Given the description of an element on the screen output the (x, y) to click on. 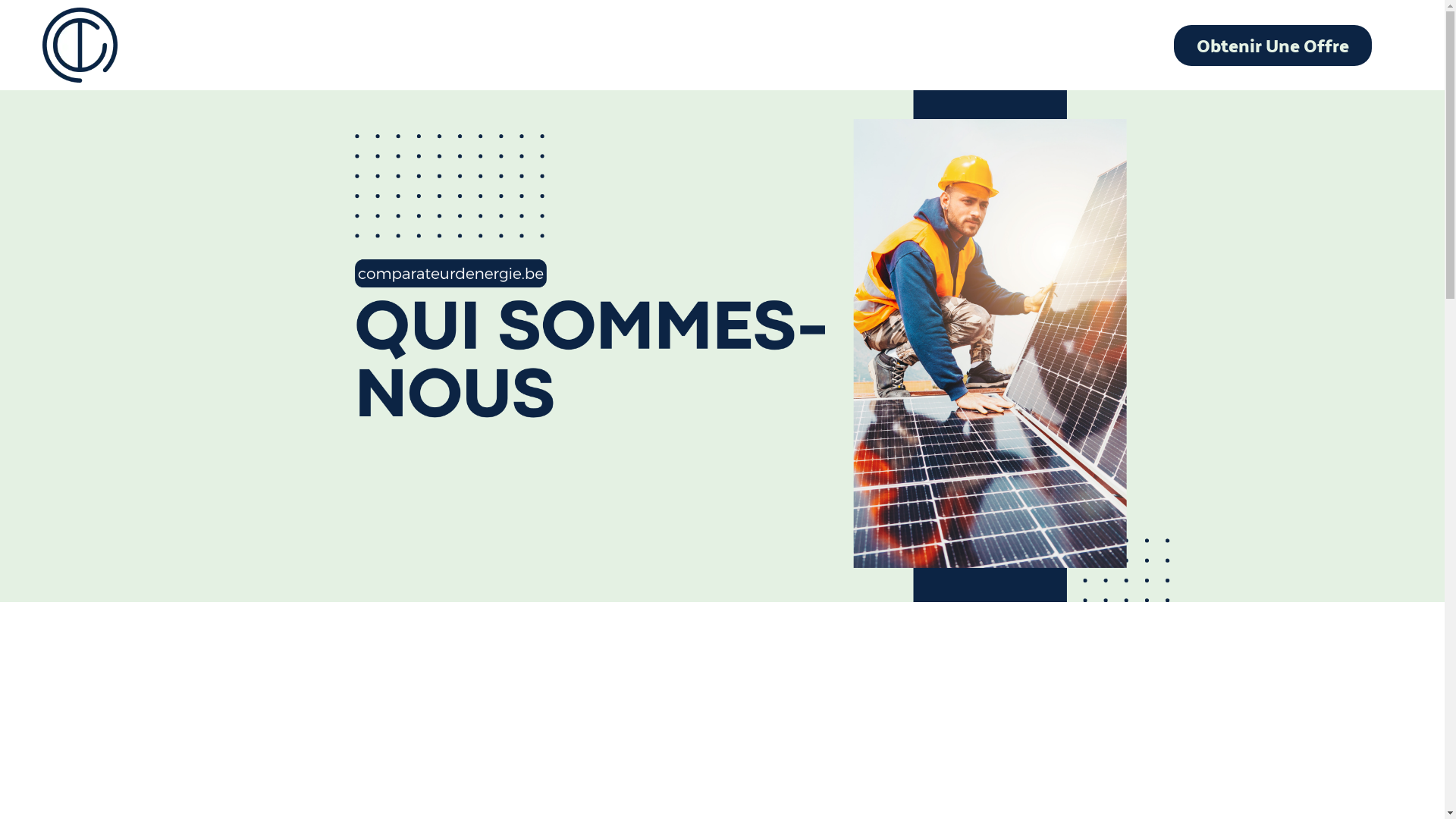
Obtenir Une Offre Element type: text (1272, 44)
